Given the description of an element on the screen output the (x, y) to click on. 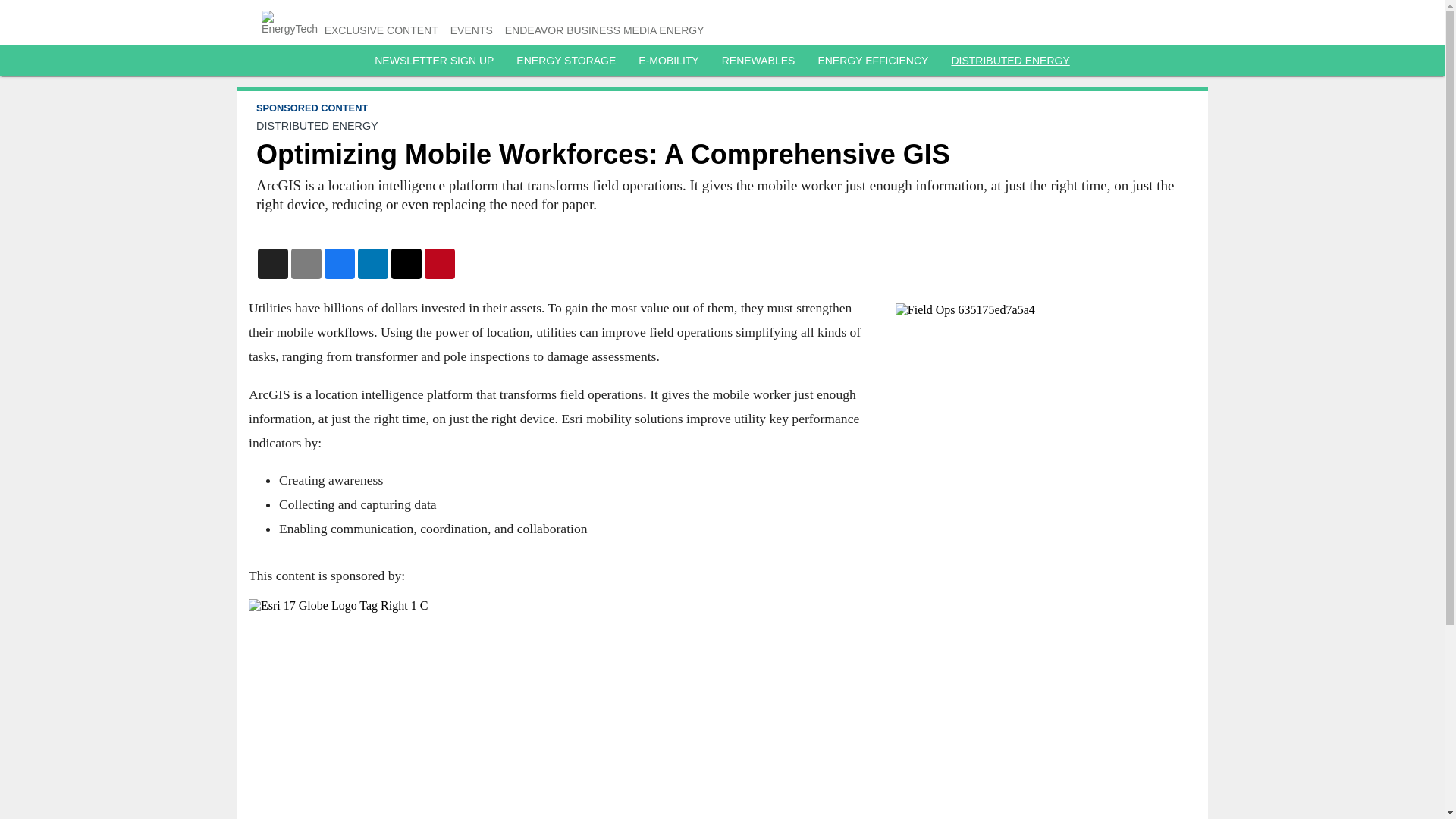
NEWSLETTER SIGN UP (433, 60)
Esri 17 Globe Logo Tag Right 1 C (560, 694)
DISTRIBUTED ENERGY (1009, 60)
ENDEAVOR BUSINESS MEDIA ENERGY (604, 30)
E-MOBILITY (668, 60)
DISTRIBUTED ENERGY (317, 125)
ENERGY STORAGE (565, 60)
EXCLUSIVE CONTENT (381, 30)
Field Ops 635175ed7a5a4 (1042, 309)
RENEWABLES (758, 60)
EVENTS (471, 30)
ENERGY EFFICIENCY (872, 60)
